Given the description of an element on the screen output the (x, y) to click on. 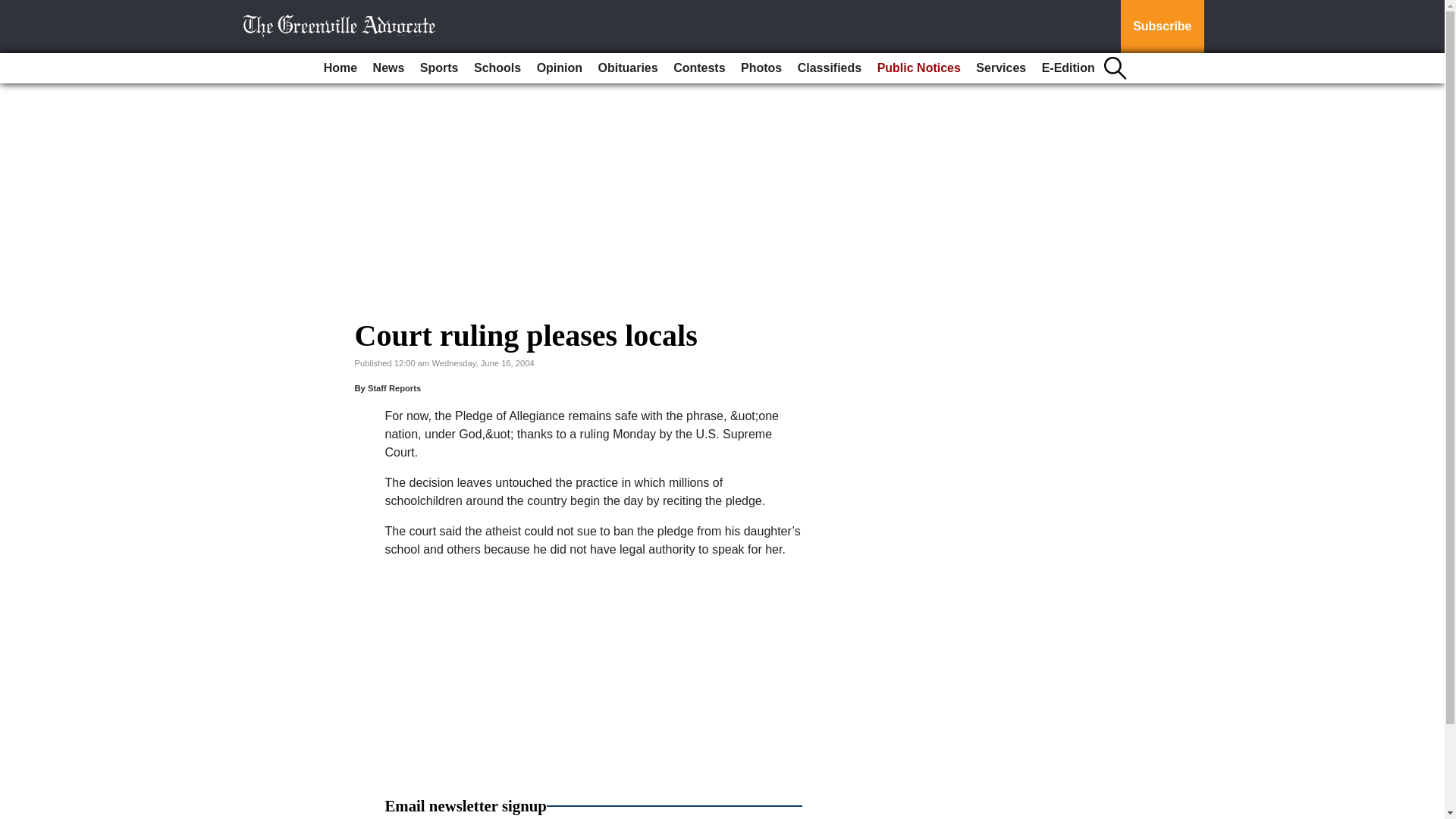
Home (339, 68)
Opinion (559, 68)
Subscribe (1162, 26)
Go (13, 9)
Contests (698, 68)
Services (1000, 68)
Photos (761, 68)
Obituaries (627, 68)
Staff Reports (394, 388)
E-Edition (1067, 68)
